Given the description of an element on the screen output the (x, y) to click on. 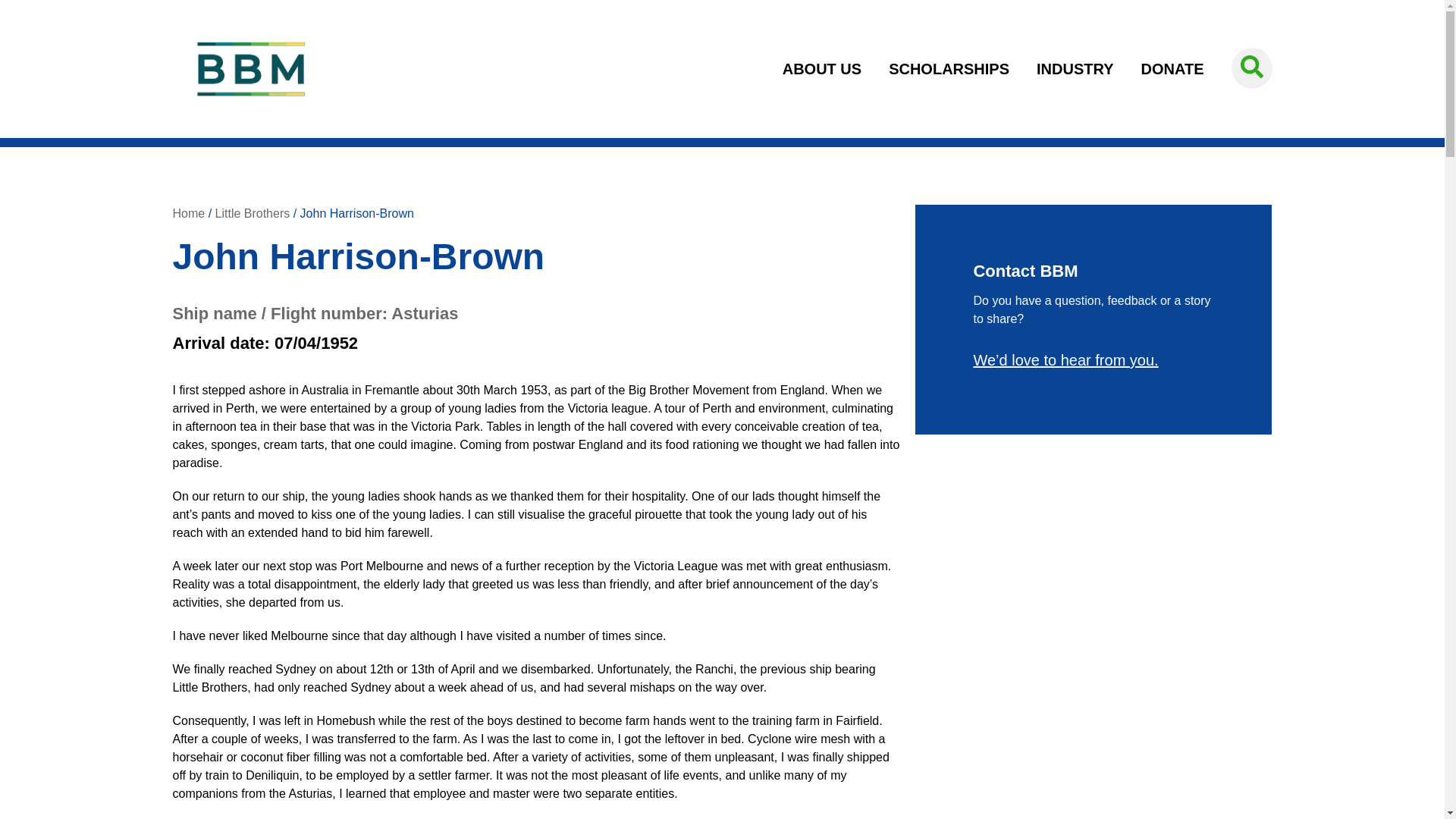
SCHOLARSHIPS (949, 69)
Little Brothers (252, 213)
BBM - Little Brothers (251, 68)
DONATE (1165, 69)
INDUSTRY (1074, 69)
ABOUT US (821, 69)
Home (189, 213)
